Given the description of an element on the screen output the (x, y) to click on. 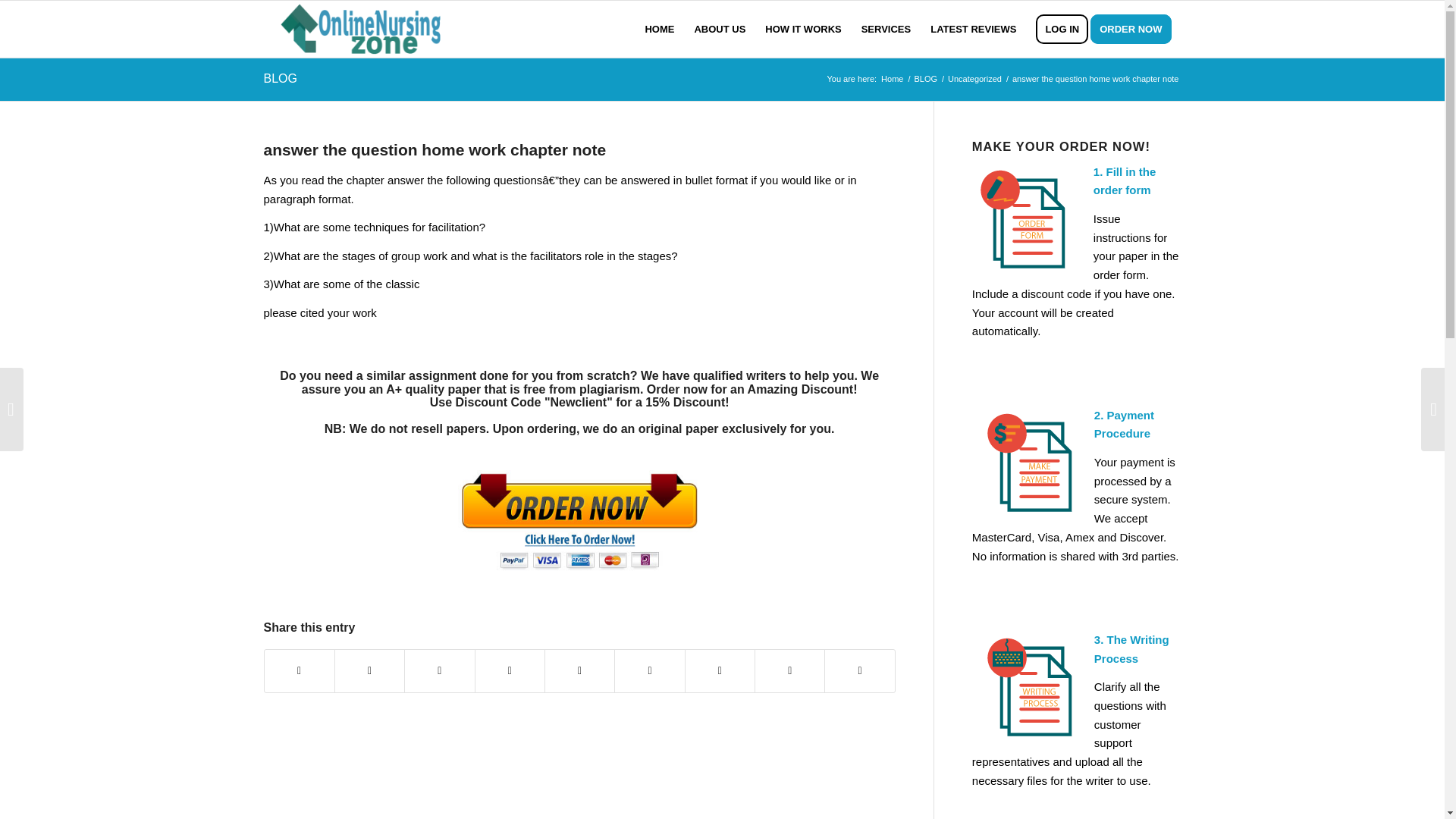
LOG IN (1061, 28)
Home (892, 79)
Permanent Link: answer the question home work chapter note (435, 149)
BLOG (925, 79)
BLOG (925, 79)
onlinenursingzone (892, 79)
ABOUT US (719, 28)
Permanent Link: BLOG (280, 78)
SERVICES (886, 28)
LATEST REVIEWS (973, 28)
